Given the description of an element on the screen output the (x, y) to click on. 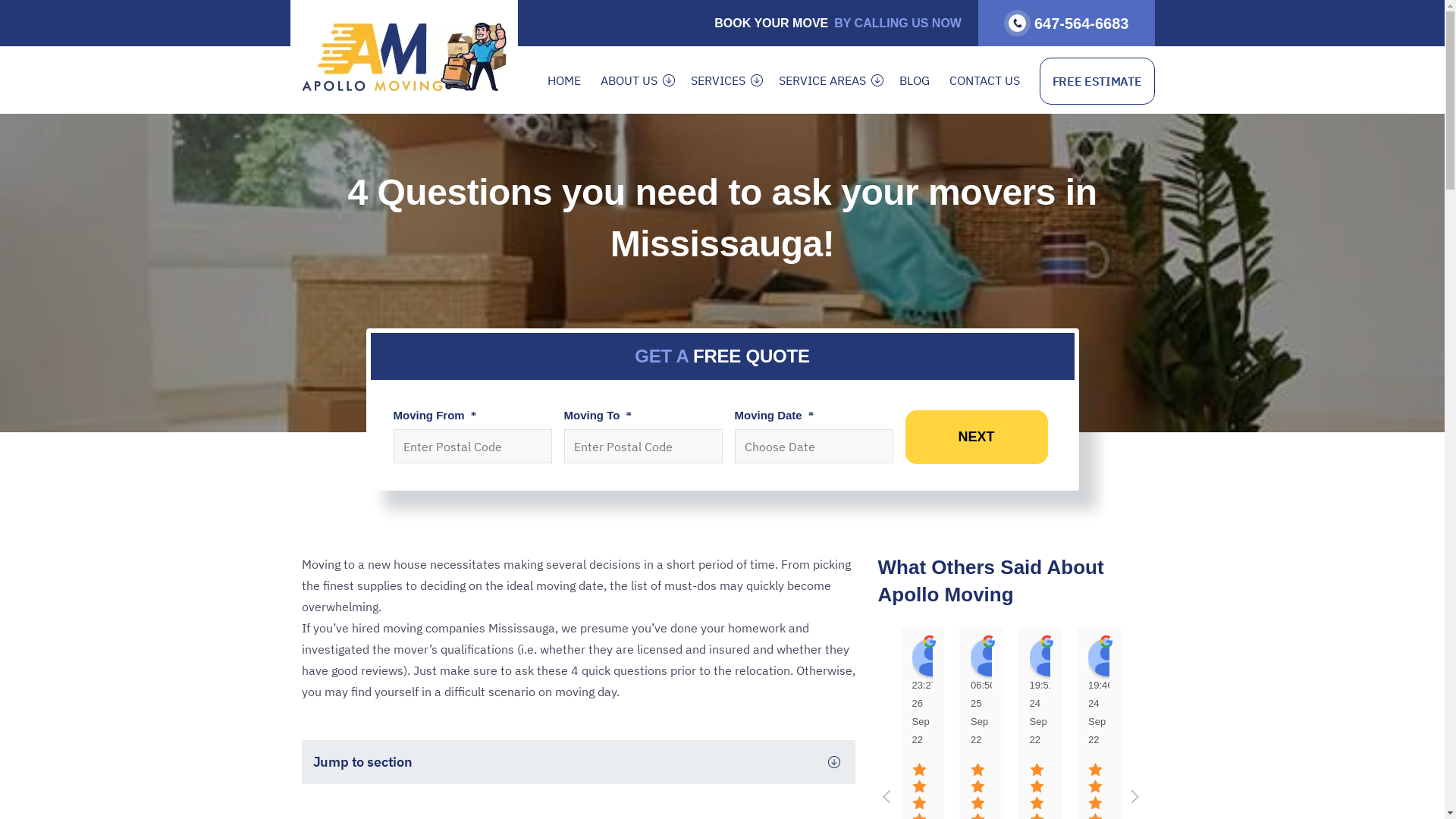
Next Element type: text (976, 437)
Daniel Lee Element type: hover (1165, 657)
BLOG Element type: text (914, 80)
Nataliah Sadies Element type: hover (989, 657)
SERVICES Element type: text (717, 80)
Alice Ruby Element type: hover (1107, 657)
CONTACT US Element type: text (984, 80)
SERVICE AREAS Element type: text (822, 80)
ABOUT US Element type: text (628, 80)
Aliea Reanna Element type: hover (1048, 657)
647-564-6683 Element type: text (1066, 23)
HOME Element type: text (563, 80)
Aiden Samule Element type: hover (930, 657)
FREE ESTIMATE Element type: text (1096, 80)
